Given the description of an element on the screen output the (x, y) to click on. 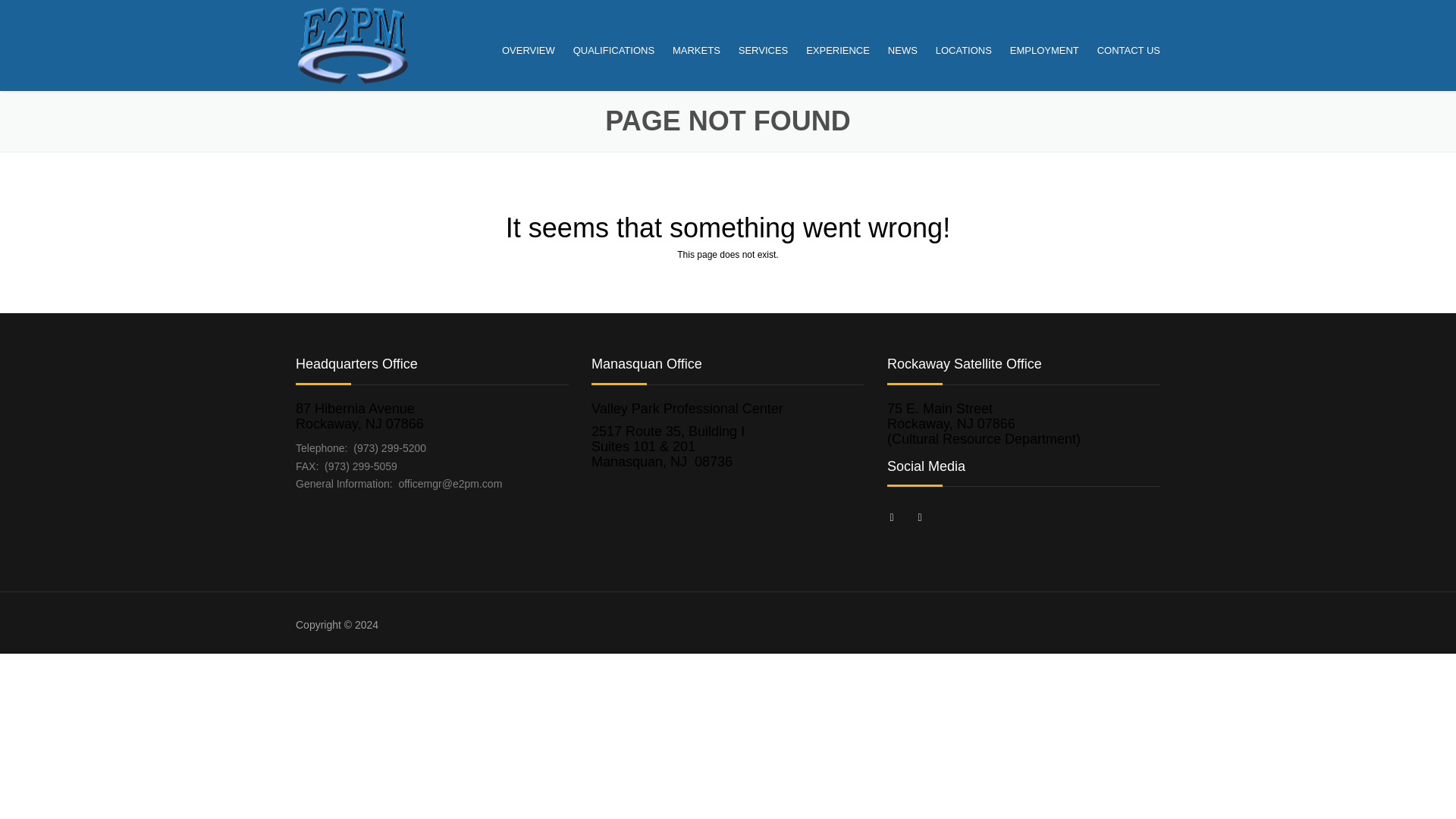
CONTACT US (1124, 50)
MARKETS (696, 50)
EXPERIENCE (837, 50)
SERVICES (763, 50)
EMPLOYMENT (1044, 50)
OVERVIEW (528, 50)
LOCATIONS (963, 50)
QUALIFICATIONS (614, 50)
